Given the description of an element on the screen output the (x, y) to click on. 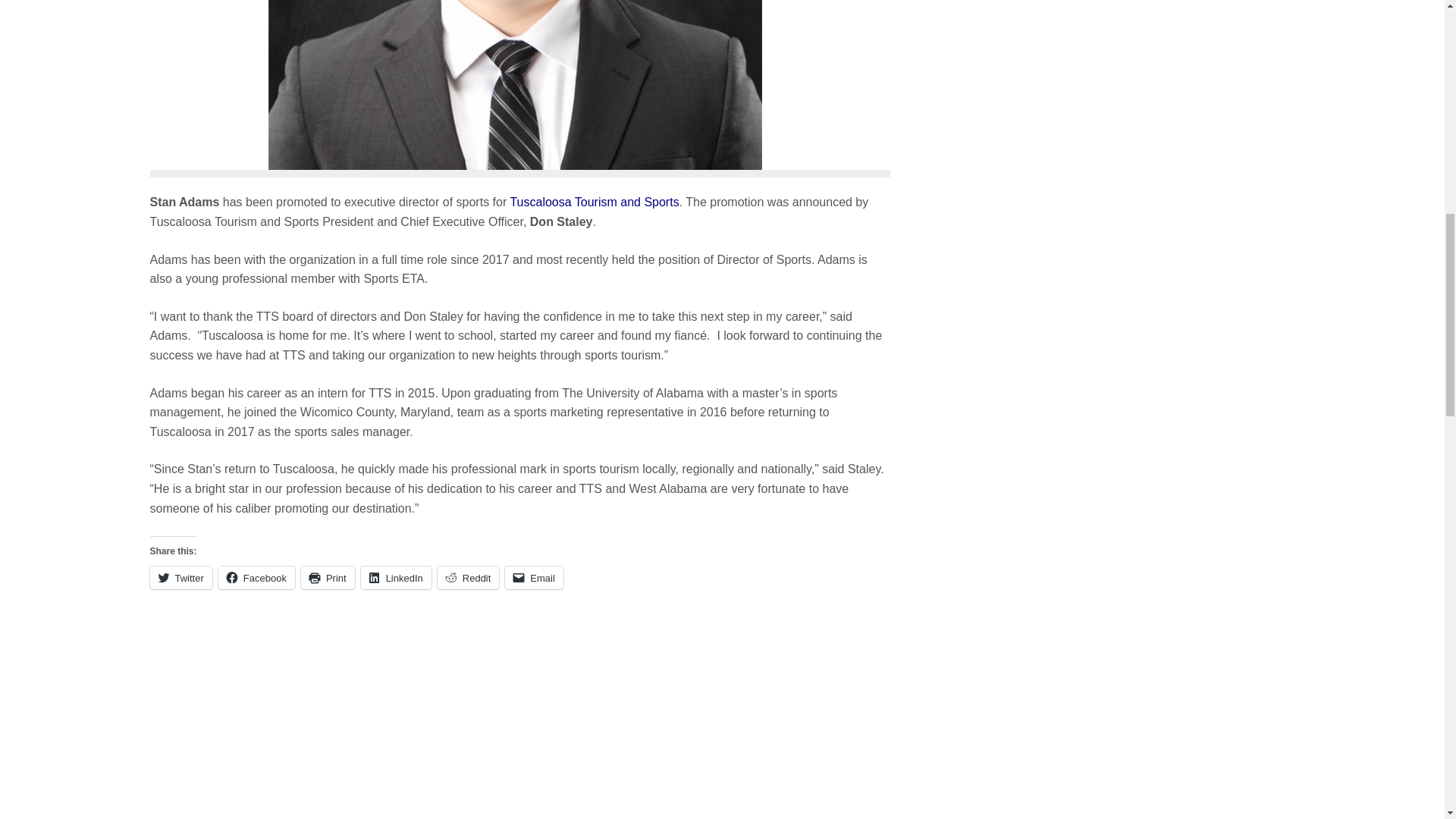
Click to share on LinkedIn (395, 577)
Click to share on Twitter (180, 577)
Click to print (328, 577)
Click to share on Reddit (468, 577)
Click to share on Facebook (256, 577)
Click to email a link to a friend (534, 577)
